Given the description of an element on the screen output the (x, y) to click on. 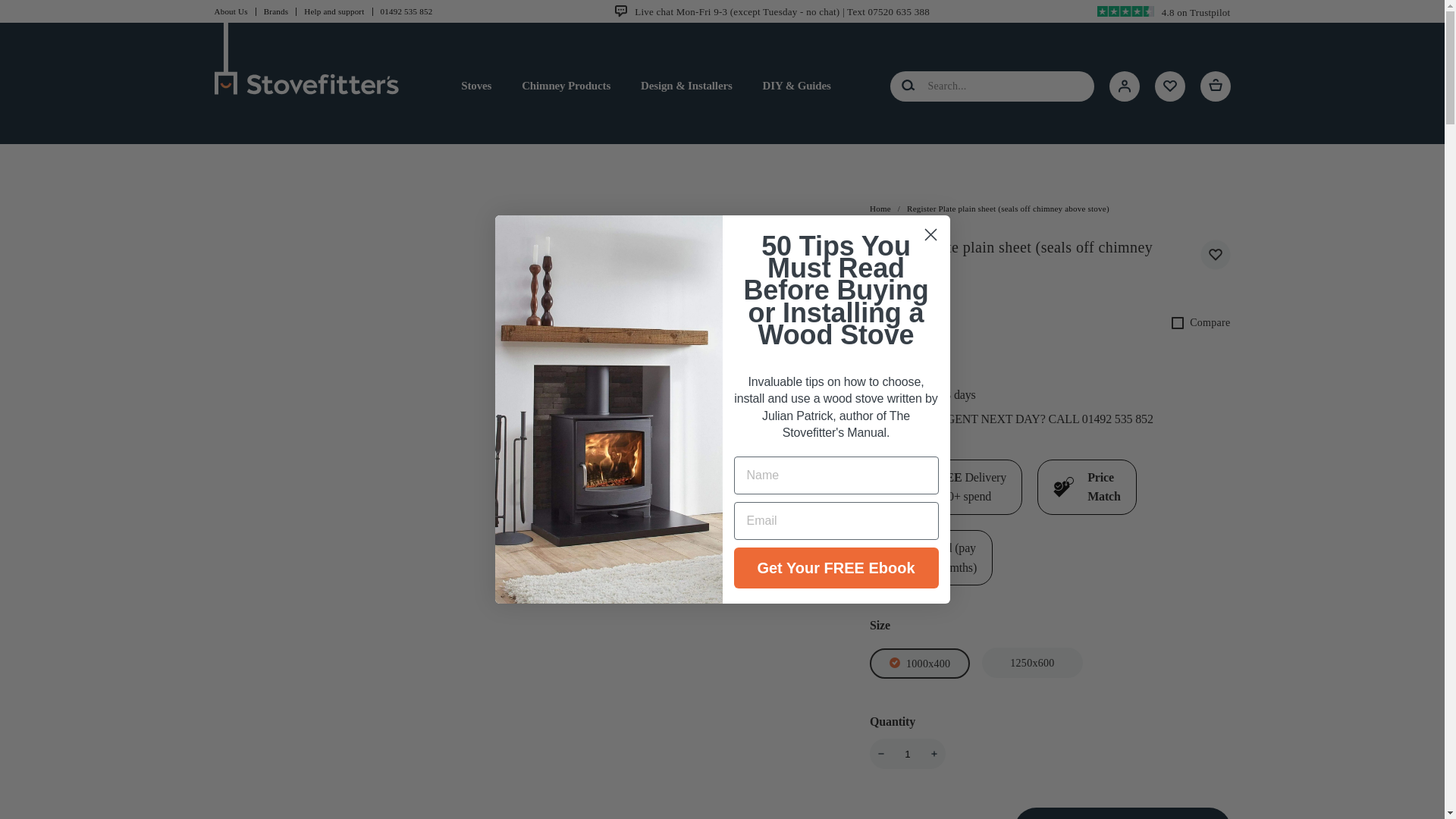
Stoves (475, 85)
Help and support (338, 11)
Cart (1214, 86)
Wishlist (1169, 86)
Chimney Products (566, 85)
Brands (280, 11)
1 (906, 753)
01492 535 852 (410, 11)
Back to the frontpage (880, 207)
